Given the description of an element on the screen output the (x, y) to click on. 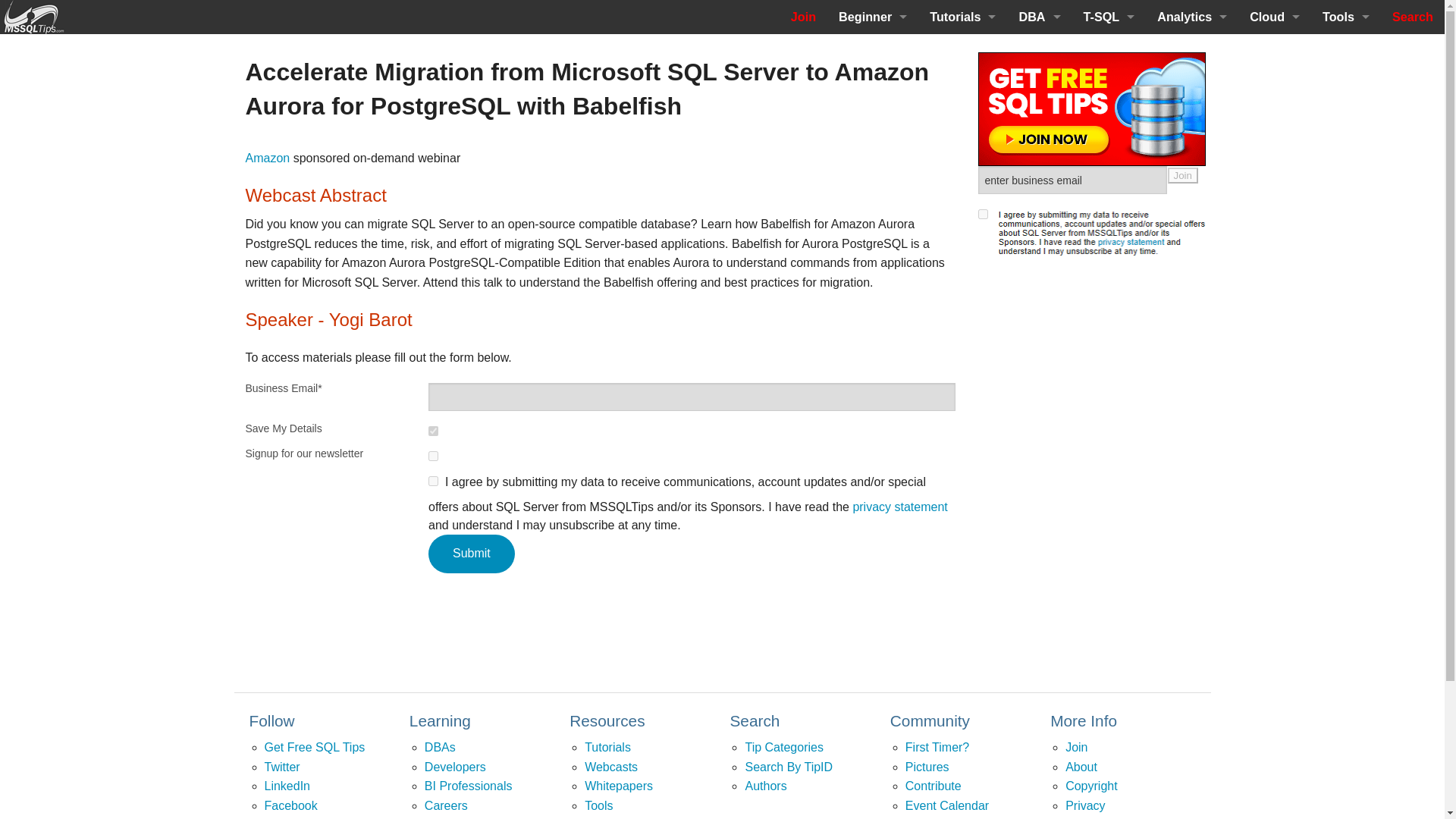
Tutorials (962, 17)
All Tutorials (962, 255)
Webinars (872, 255)
Monitoring (1039, 119)
SQL Server Download Links (872, 153)
Indexing (962, 153)
Performance Tuning (962, 119)
SQL Server Agent (1039, 221)
Reporting Services (962, 221)
SQL Server Concepts (872, 119)
